Given the description of an element on the screen output the (x, y) to click on. 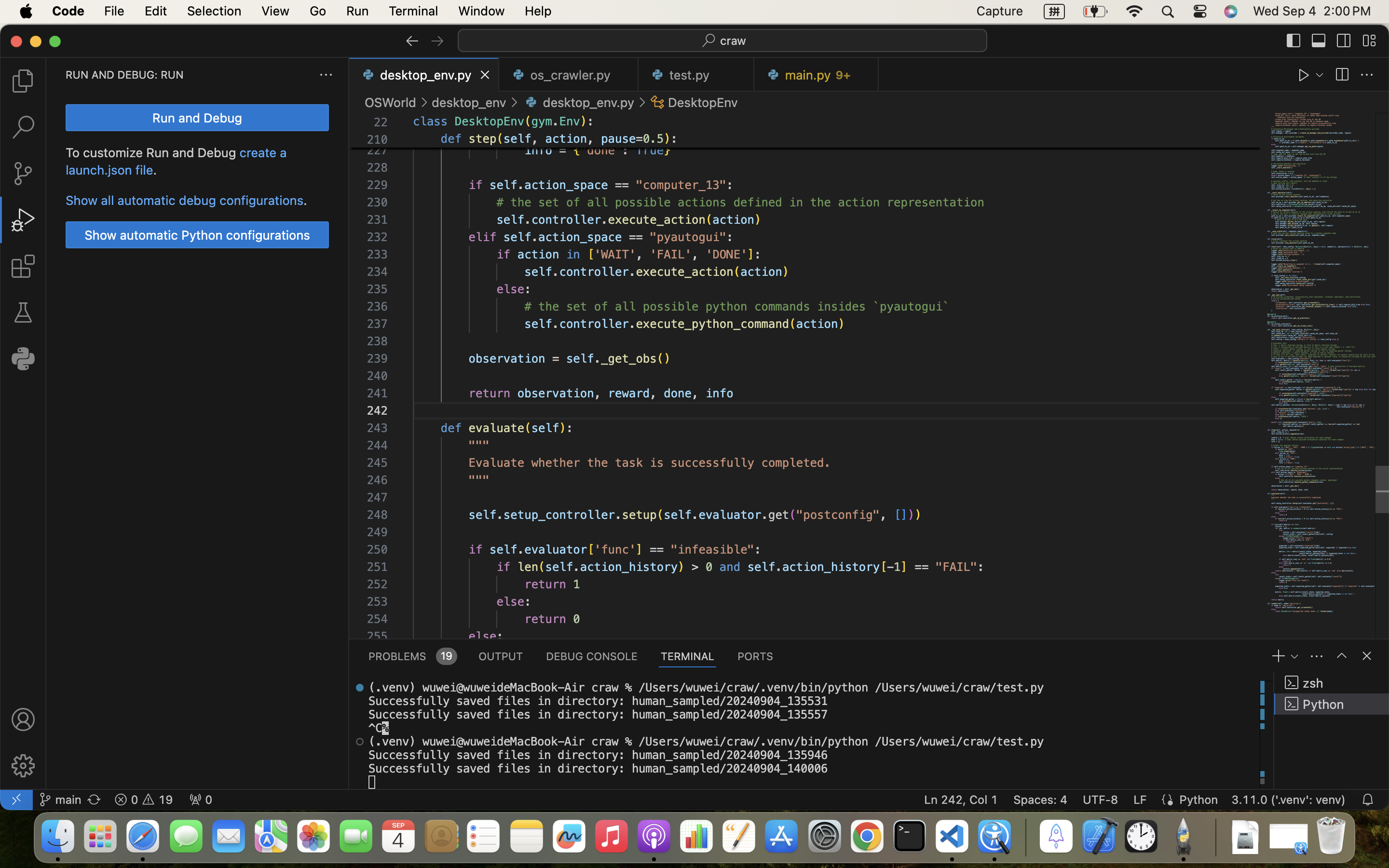
 Element type: AXCheckBox (1293, 40)
DesktopEnv Element type: AXStaticText (489, 121)
0  Element type: AXRadioButton (23, 127)
 Element type: AXButton (1341, 74)
main  Element type: AXButton (59, 799)
